Given the description of an element on the screen output the (x, y) to click on. 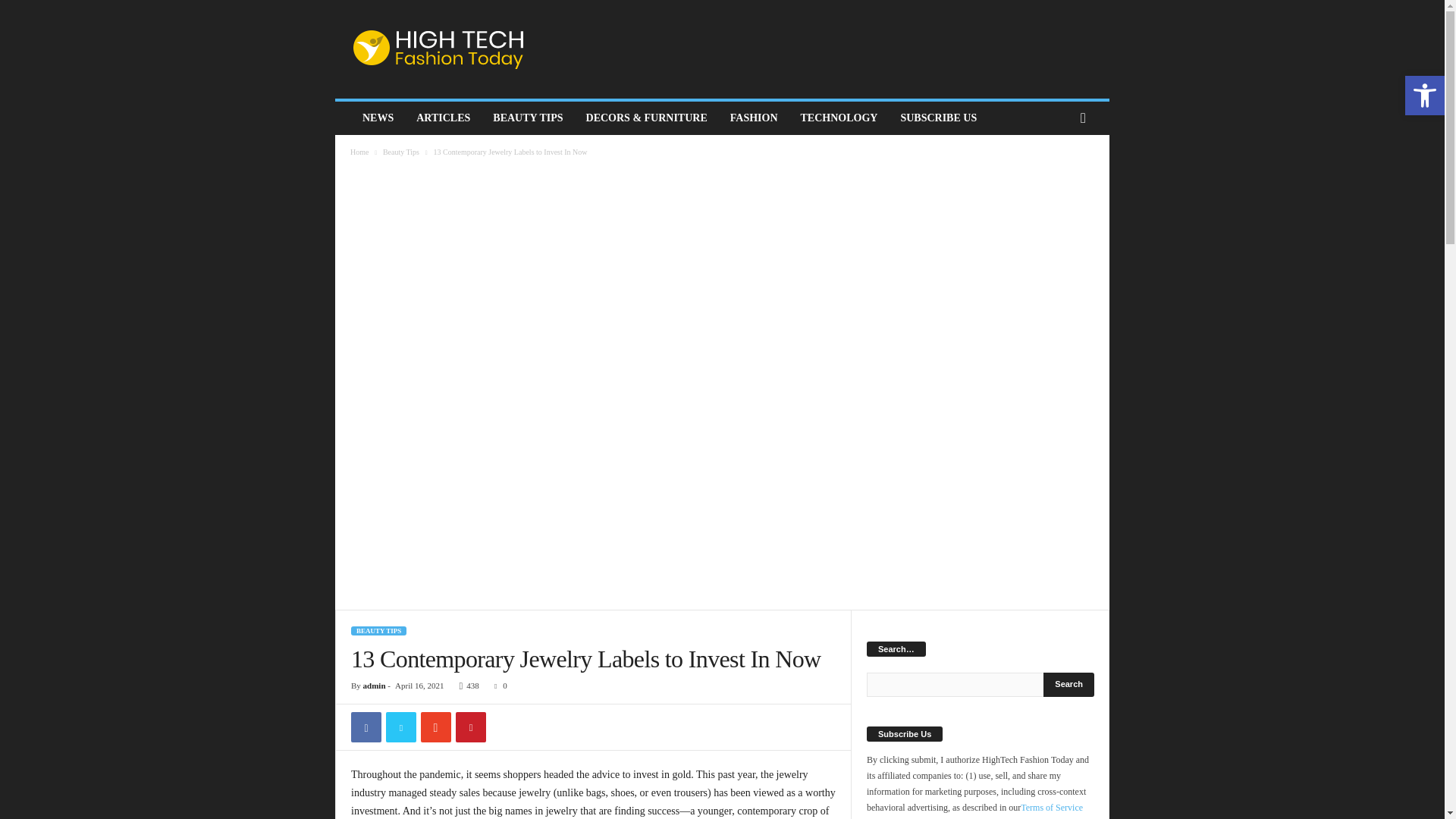
View all posts in Beauty Tips (400, 152)
NEWS (377, 118)
HighTech Fashion Today (437, 48)
Home (359, 152)
ARTICLES (442, 118)
TECHNOLOGY (839, 118)
Accessibility Tools (1424, 95)
Search (1068, 684)
BEAUTY TIPS (527, 118)
FASHION (754, 118)
SUBSCRIBE US (938, 118)
